Given the description of an element on the screen output the (x, y) to click on. 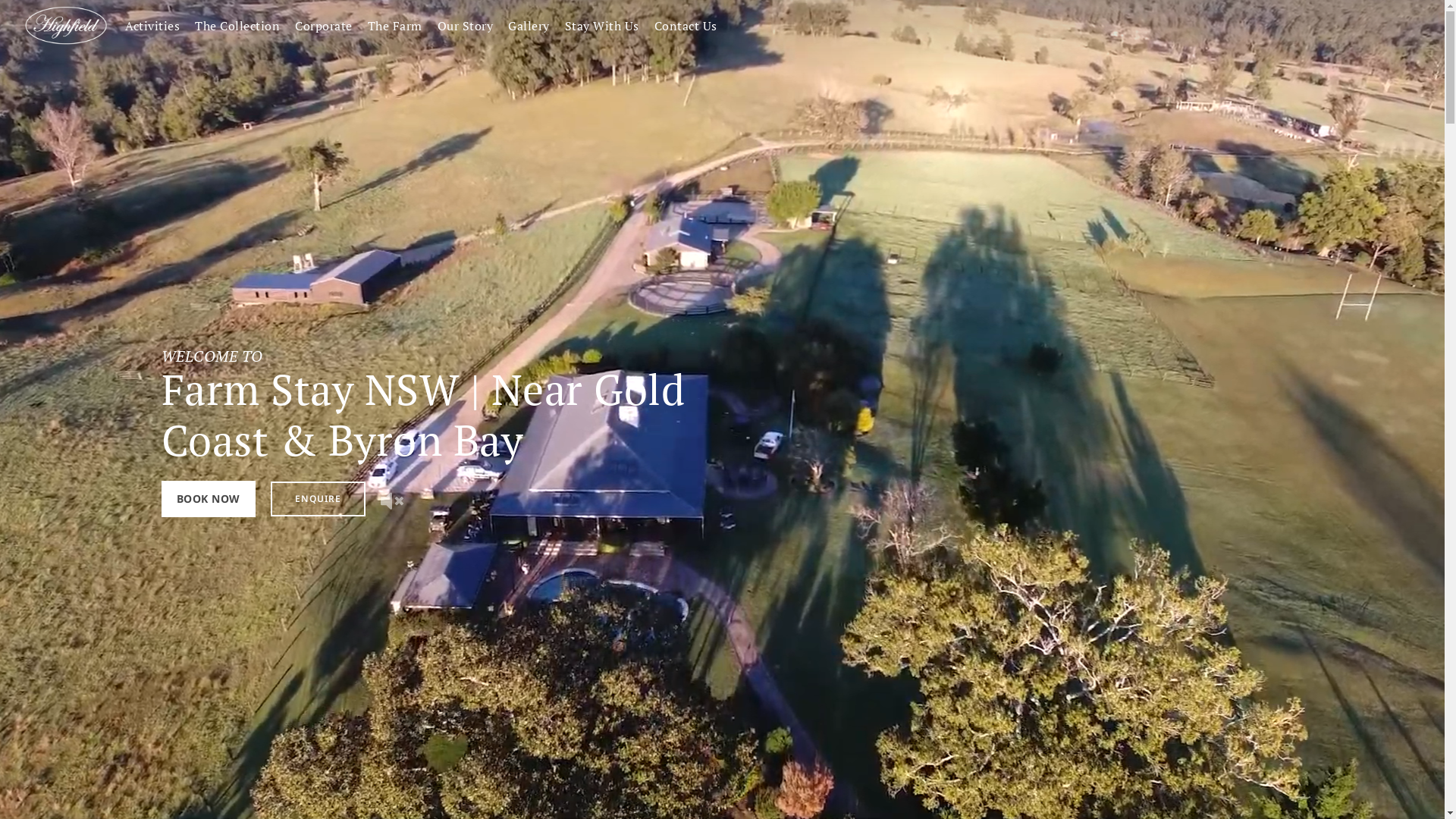
The Collection Element type: text (236, 791)
The Farm Element type: text (394, 25)
Gallery Element type: text (528, 25)
Our Story Element type: text (464, 791)
Corporate Element type: text (323, 25)
Activities Element type: text (152, 25)
Gallery Element type: text (528, 791)
Contact Us Element type: text (684, 25)
BOOK NOW Element type: text (207, 498)
Corporate Element type: text (323, 791)
Stay With Us Element type: text (601, 791)
ENQUIRE Element type: text (317, 498)
Stay With Us Element type: text (601, 25)
The Collection Element type: text (236, 25)
Our Story Element type: text (464, 25)
The Farm Element type: text (394, 791)
Contact Us Element type: text (684, 791)
Activities Element type: text (152, 791)
